Given the description of an element on the screen output the (x, y) to click on. 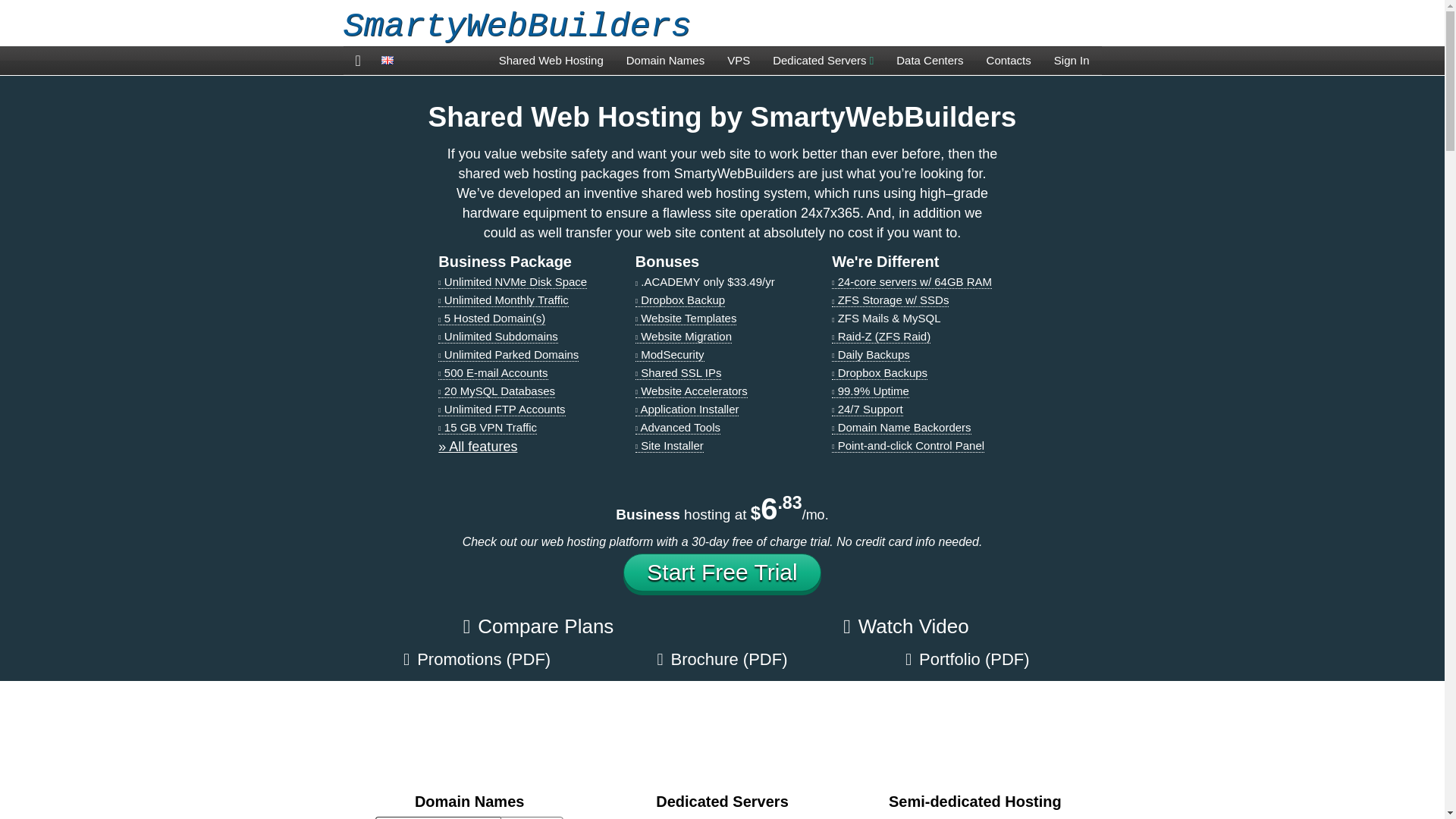
Business Plan Details (477, 446)
VPS (738, 60)
